Given the description of an element on the screen output the (x, y) to click on. 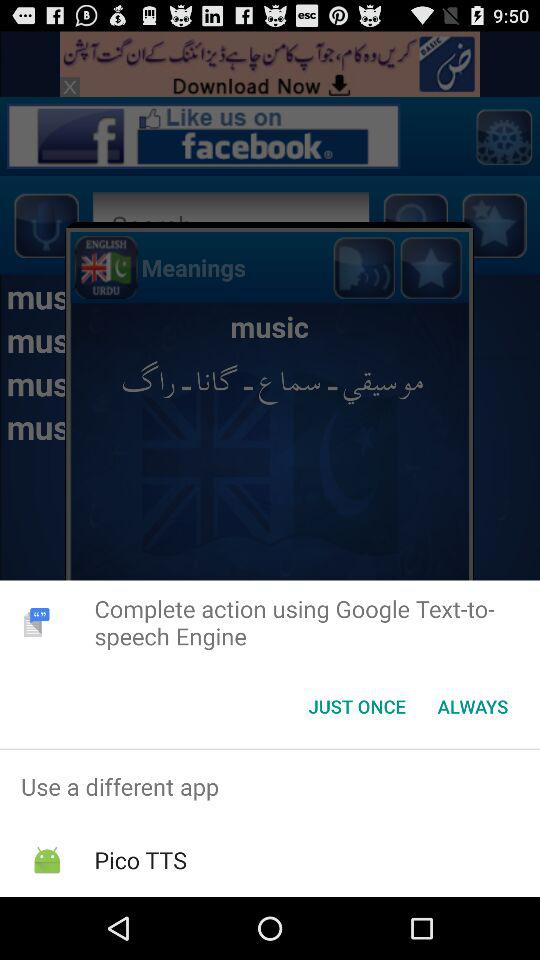
select button to the right of the just once button (472, 706)
